Given the description of an element on the screen output the (x, y) to click on. 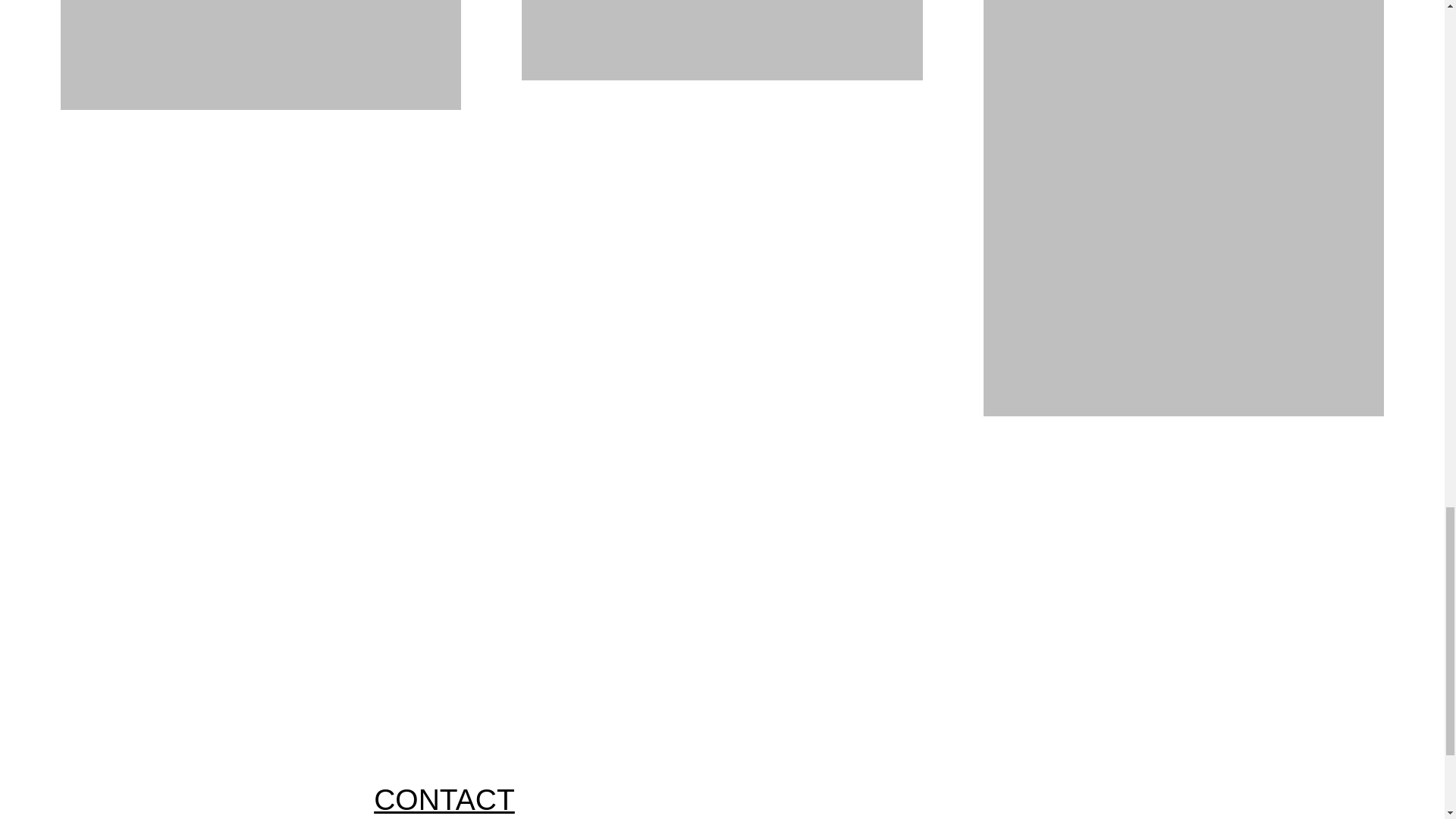
CONTACT (444, 798)
